Given the description of an element on the screen output the (x, y) to click on. 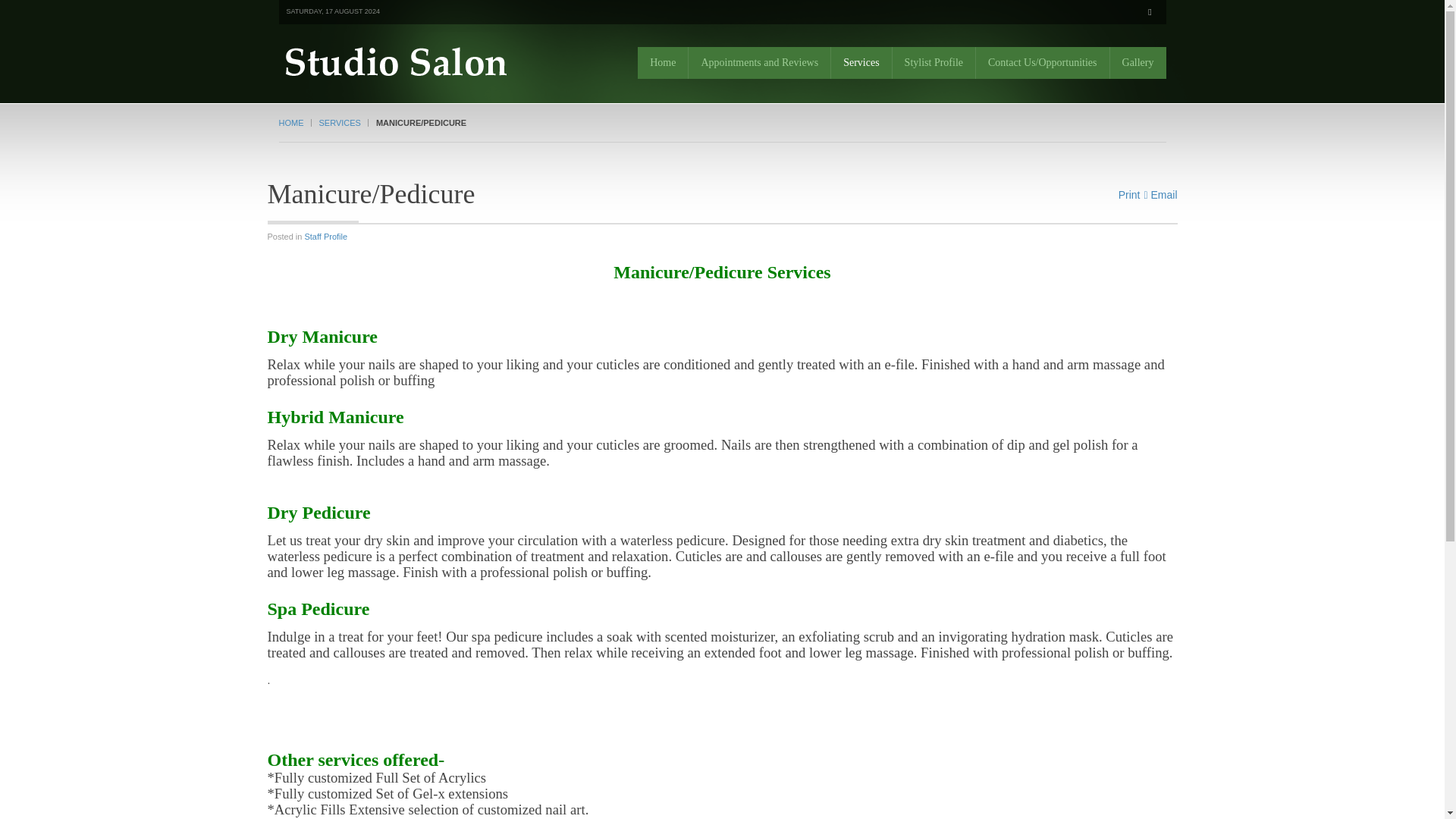
Staff Profile (325, 235)
SERVICES (343, 122)
Stylist Profile (933, 62)
Email (1159, 194)
Services (860, 62)
Email this link to a friend (1159, 194)
Appointments and Reviews (759, 62)
Gallery (1138, 62)
Home (662, 62)
HOME (295, 122)
